Given the description of an element on the screen output the (x, y) to click on. 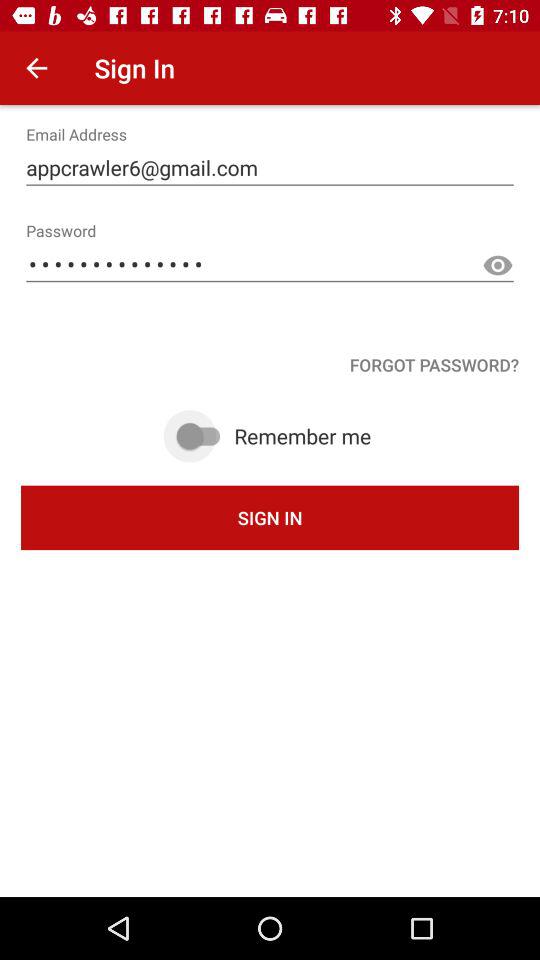
show text (498, 265)
